Given the description of an element on the screen output the (x, y) to click on. 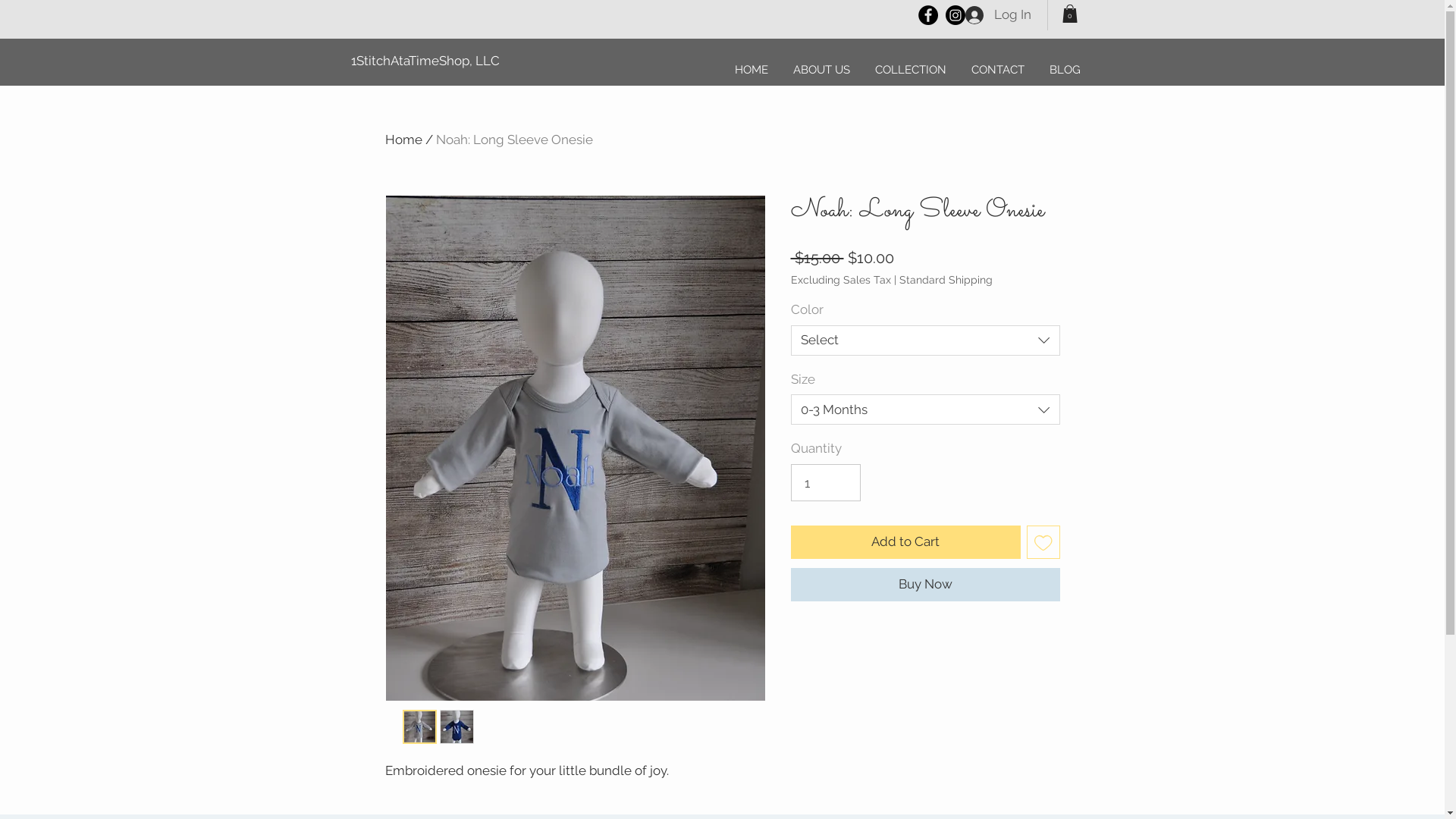
Home Element type: text (403, 139)
Select Element type: text (924, 340)
ABOUT US Element type: text (821, 69)
Noah: Long Sleeve Onesie Element type: text (513, 139)
HOME Element type: text (750, 69)
0 Element type: text (1068, 13)
CONTACT Element type: text (997, 69)
Buy Now Element type: text (924, 584)
1StitchAtaTimeShop, LLC Element type: text (424, 60)
BLOG Element type: text (1065, 69)
Standard Shipping Element type: text (945, 279)
Add to Cart Element type: text (905, 541)
0-3 Months Element type: text (924, 409)
Log In Element type: text (997, 14)
